Given the description of an element on the screen output the (x, y) to click on. 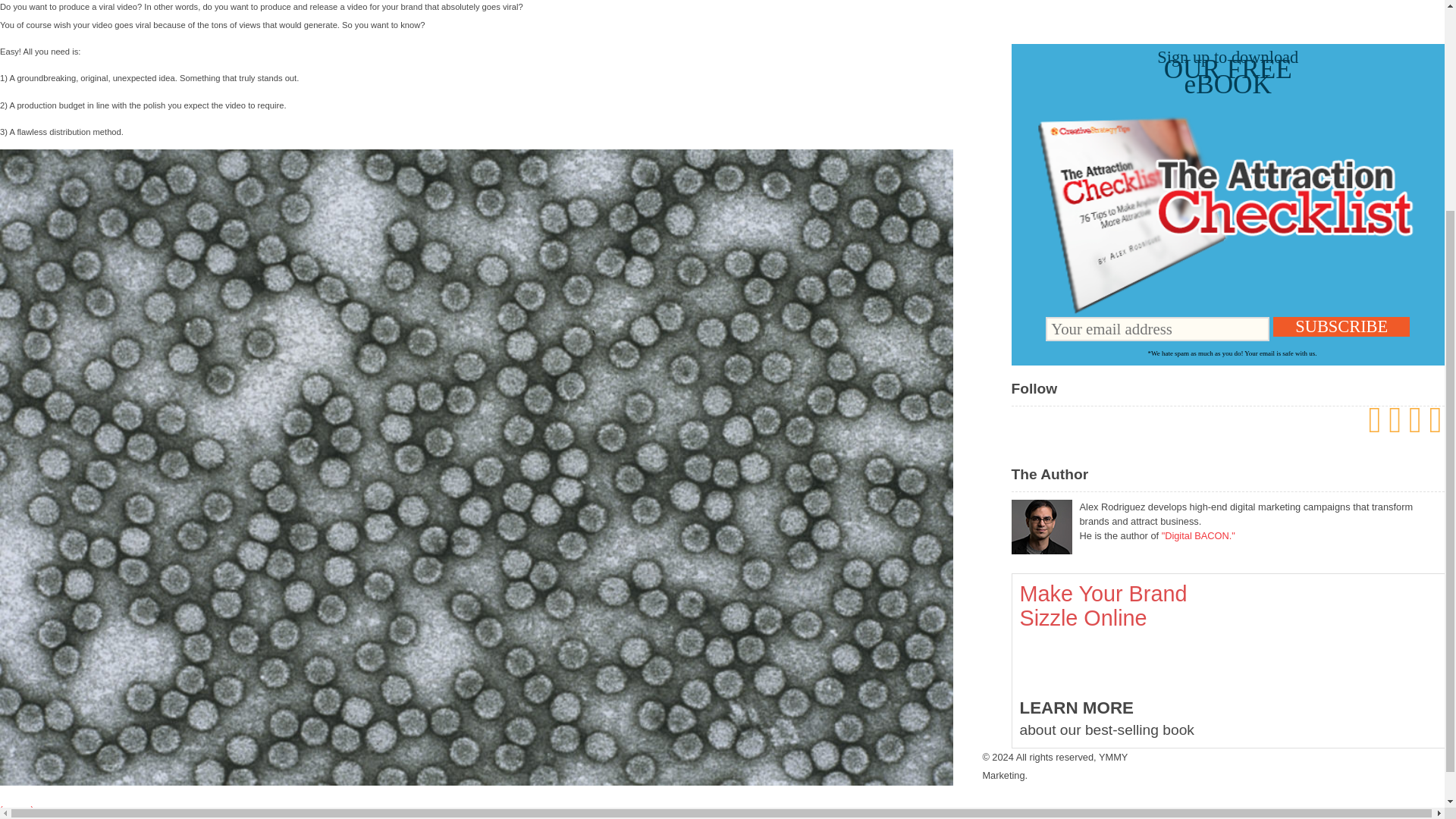
SUBSCRIBE (1340, 326)
SUBSCRIBE (1340, 326)
"Digital BACON." (1197, 535)
